Given the description of an element on the screen output the (x, y) to click on. 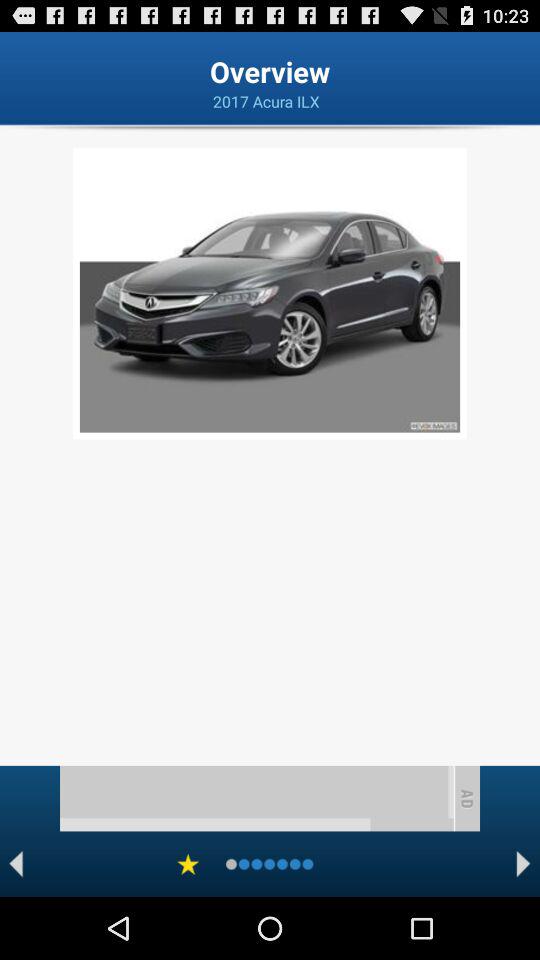
click the star (188, 864)
